Given the description of an element on the screen output the (x, y) to click on. 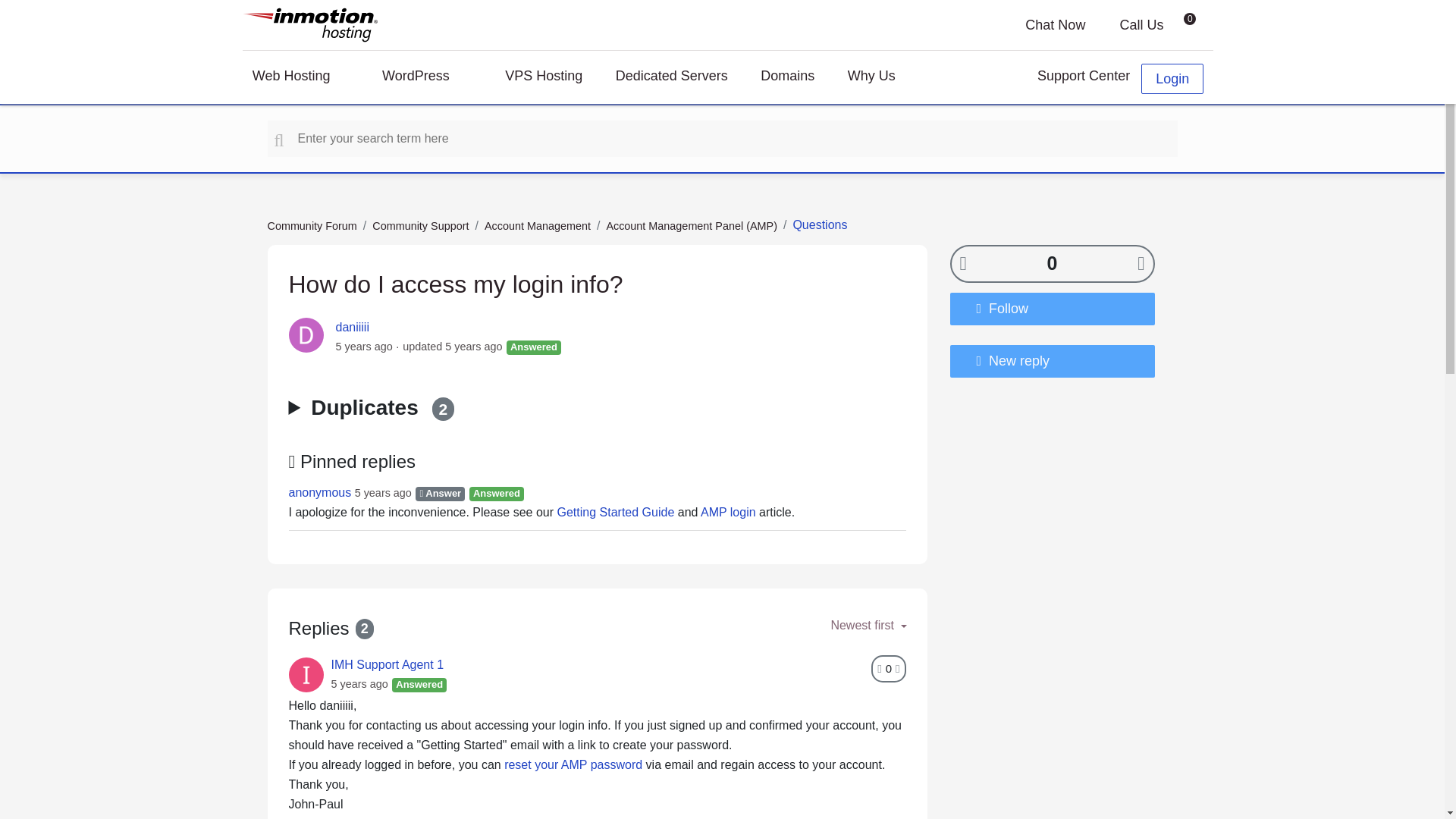
WordPress (426, 78)
VPS Hosting (543, 78)
Domains (786, 78)
Chat Now (1043, 24)
Call Us (1129, 24)
Web Hosting (300, 78)
  Support Center (1072, 78)
WordPress (426, 78)
Web Hosting (300, 78)
Why Us (882, 78)
